Given the description of an element on the screen output the (x, y) to click on. 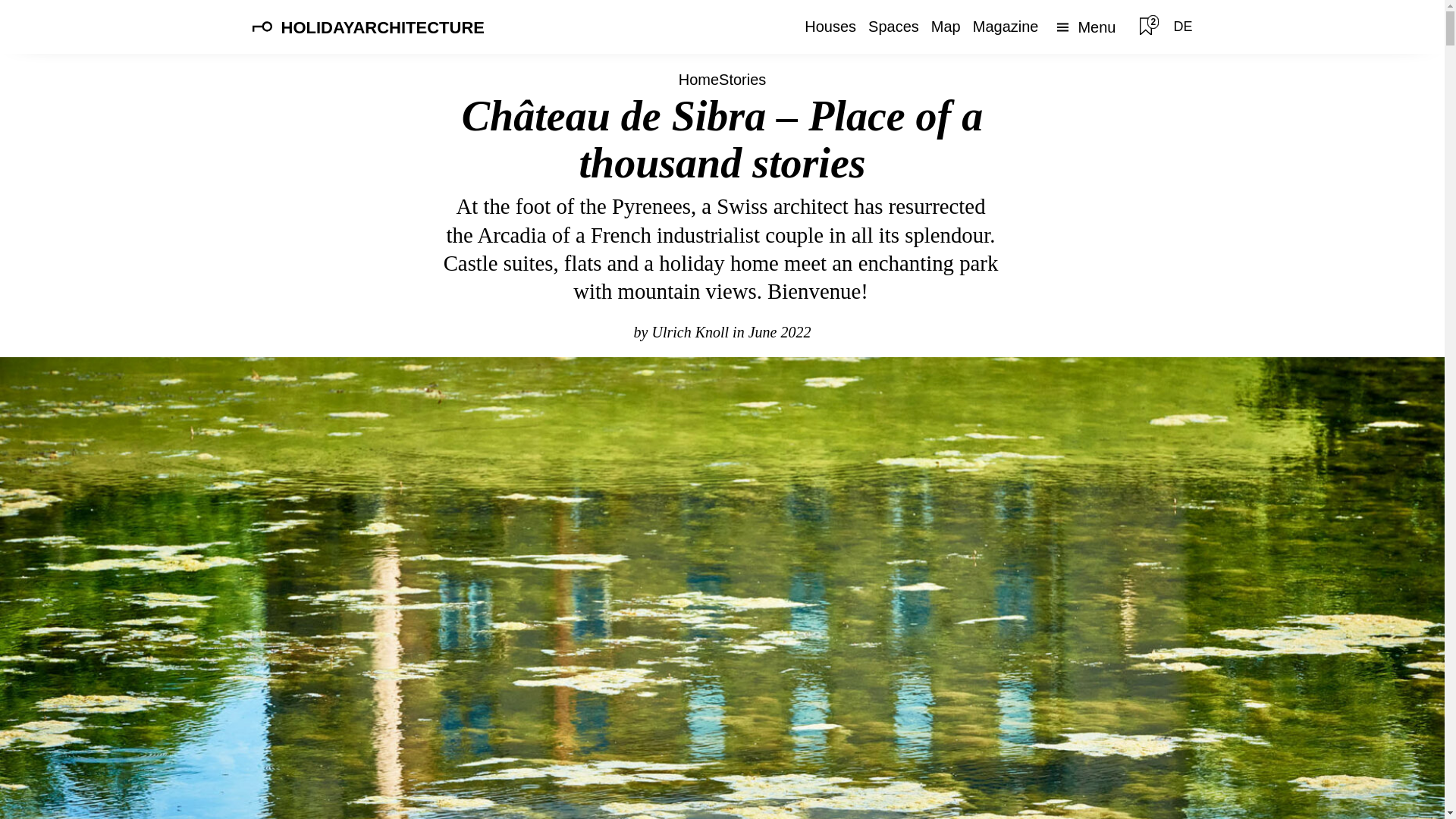
Magazine (1005, 26)
DE (1182, 26)
2 (1150, 27)
Map (945, 26)
HOLIDAYARCHITECTURE (382, 27)
Houses (829, 26)
Spaces (892, 26)
